Given the description of an element on the screen output the (x, y) to click on. 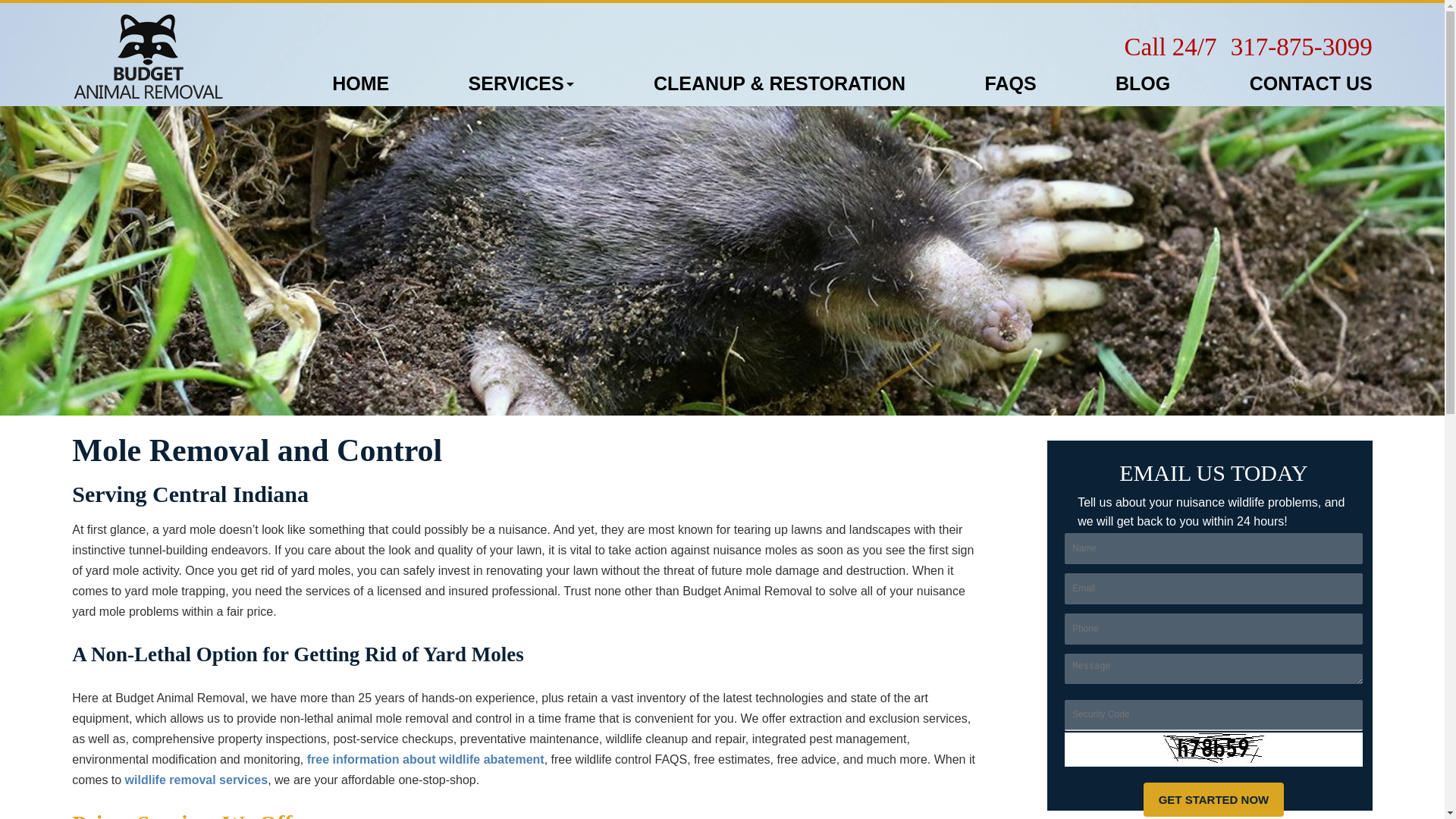
CONTACT US (1311, 83)
FAQS (1009, 83)
BLOG (1142, 83)
wildlife removal services (196, 779)
SERVICES (521, 83)
HOME (359, 83)
free information about wildlife abatement (425, 758)
